Given the description of an element on the screen output the (x, y) to click on. 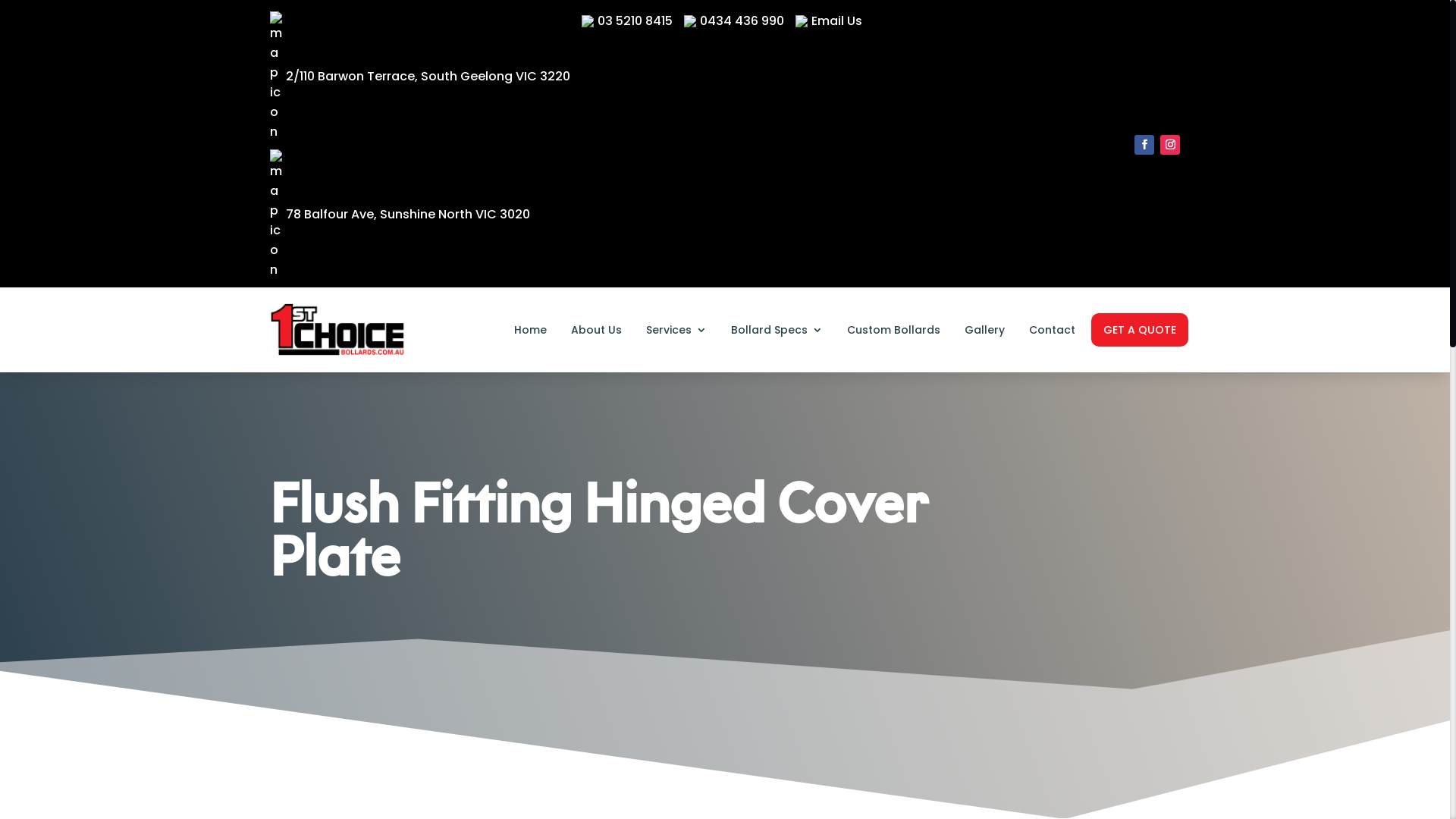
Follow on Facebook Element type: hover (1144, 144)
Home Element type: text (530, 329)
Bollard Specs Element type: text (776, 329)
03 5210 8415 Element type: text (626, 21)
Email Us Element type: text (828, 21)
Services Element type: text (676, 329)
2/110 Barwon Terrace, South Geelong VIC 3220 Element type: text (419, 76)
78 Balfour Ave, Sunshine North VIC 3020 Element type: text (399, 214)
0434 436 990 Element type: text (734, 21)
GET A QUOTE Element type: text (1139, 329)
Contact Element type: text (1052, 329)
Gallery Element type: text (984, 329)
About Us Element type: text (596, 329)
1st-choice-bollards-logo Element type: hover (337, 329)
Custom Bollards Element type: text (893, 329)
Follow on Instagram Element type: hover (1169, 144)
